Given the description of an element on the screen output the (x, y) to click on. 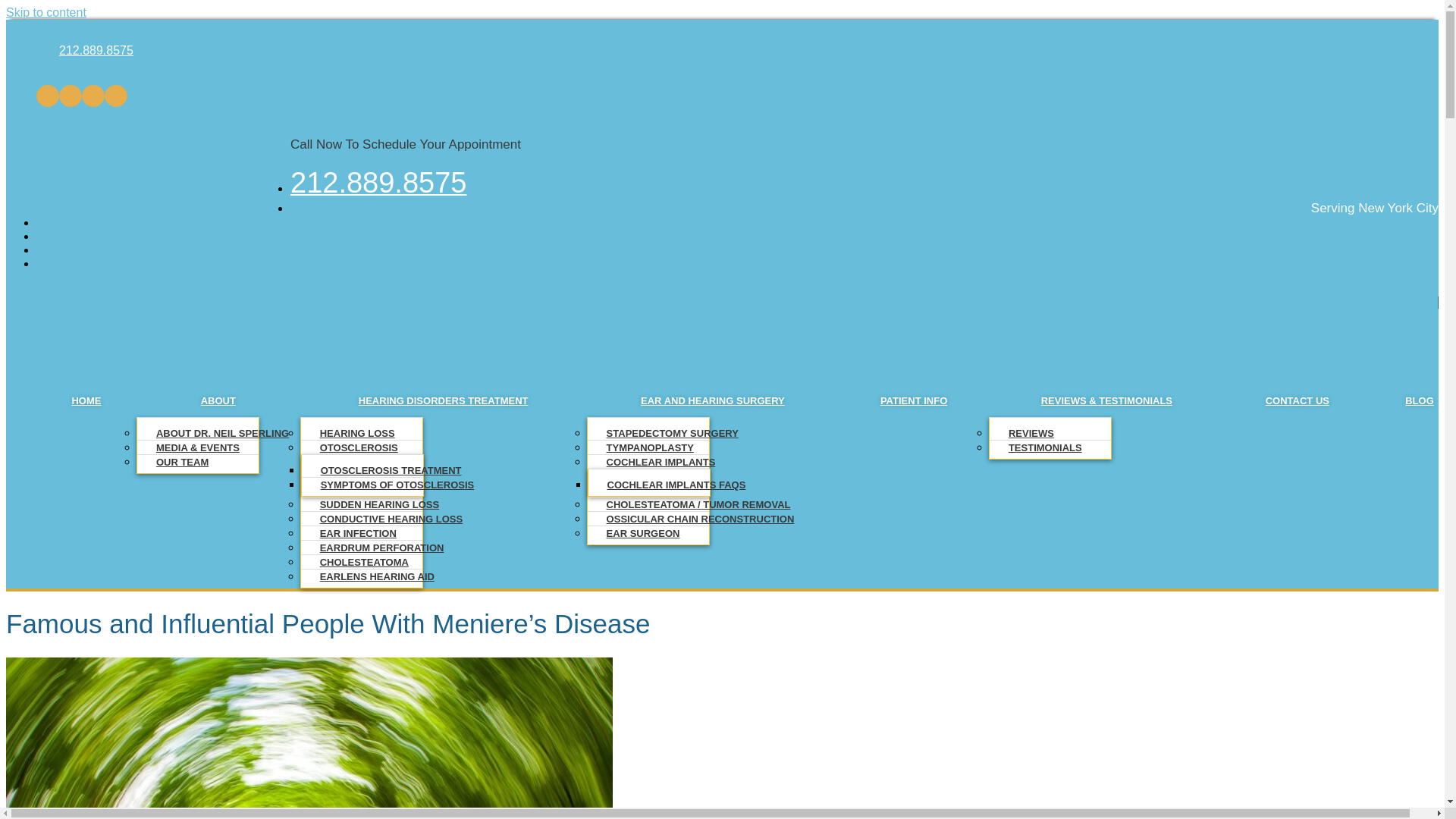
EARDRUM PERFORATION (382, 547)
HOME (86, 400)
TYMPANOPLASTY (650, 447)
REVIEWS (1031, 432)
OTOSCLEROSIS (358, 447)
EAR SURGEON (643, 532)
OSSICULAR CHAIN RECONSTRUCTION (700, 518)
SUDDEN HEARING LOSS (379, 504)
CONDUCTIVE HEARING LOSS (391, 518)
OUR TEAM (181, 461)
ABOUT (217, 400)
COCHLEAR IMPLANTS FAQS (676, 484)
STAPEDECTOMY SURGERY (672, 432)
SYMPTOMS OF OTOSCLEROSIS (397, 484)
CONTACT US (1297, 400)
